Given the description of an element on the screen output the (x, y) to click on. 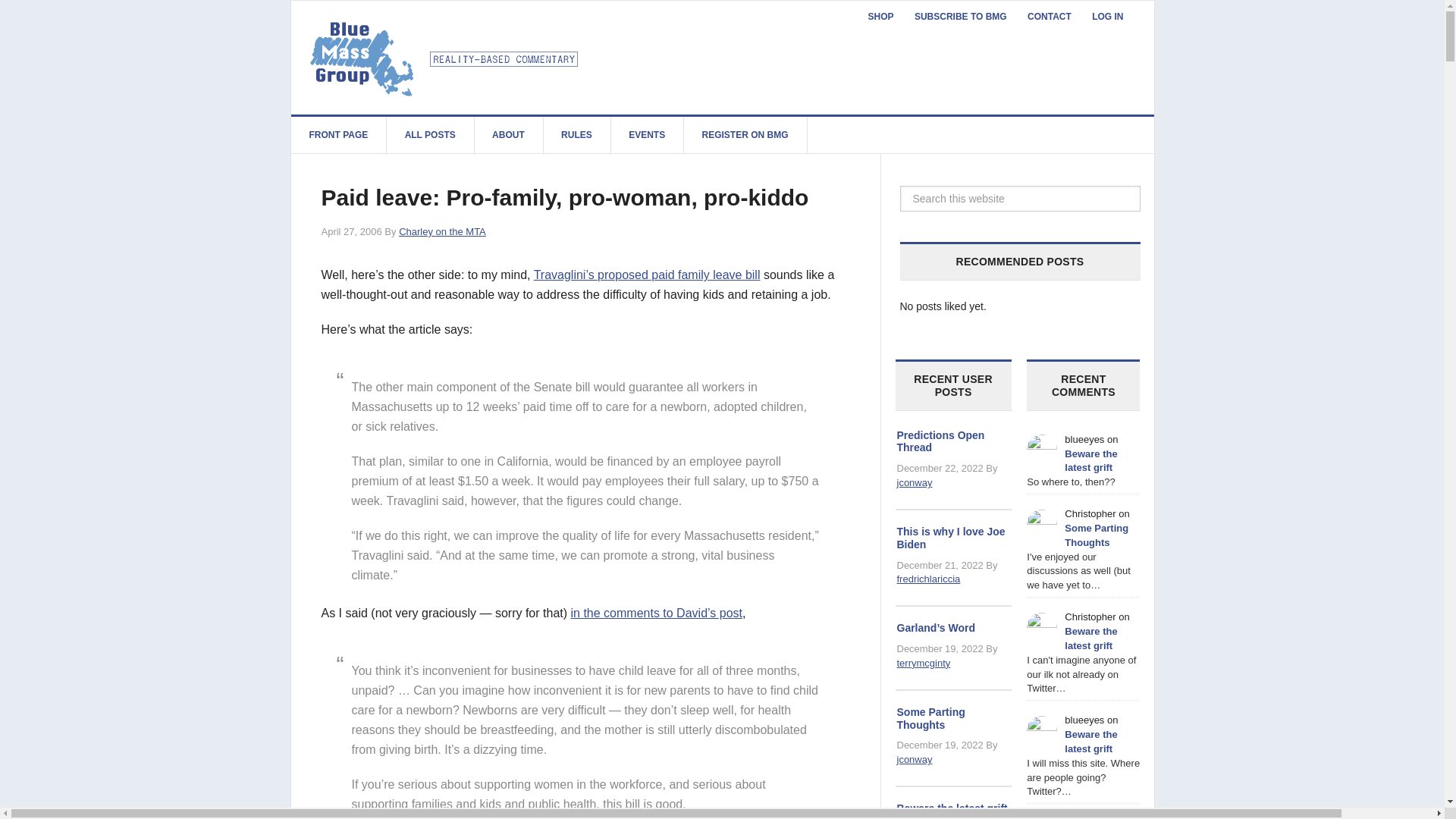
CONTACT (1048, 16)
FRONT PAGE (339, 135)
SUBSCRIBE TO BMG (960, 16)
ABOUT (508, 135)
Charley on the MTA (442, 231)
SHOP (880, 16)
REGISTER ON BMG (744, 135)
EVENTS (647, 135)
BLUE MASS GROUP (445, 57)
ALL POSTS (430, 135)
RULES (577, 135)
LOG IN (1107, 16)
